Given the description of an element on the screen output the (x, y) to click on. 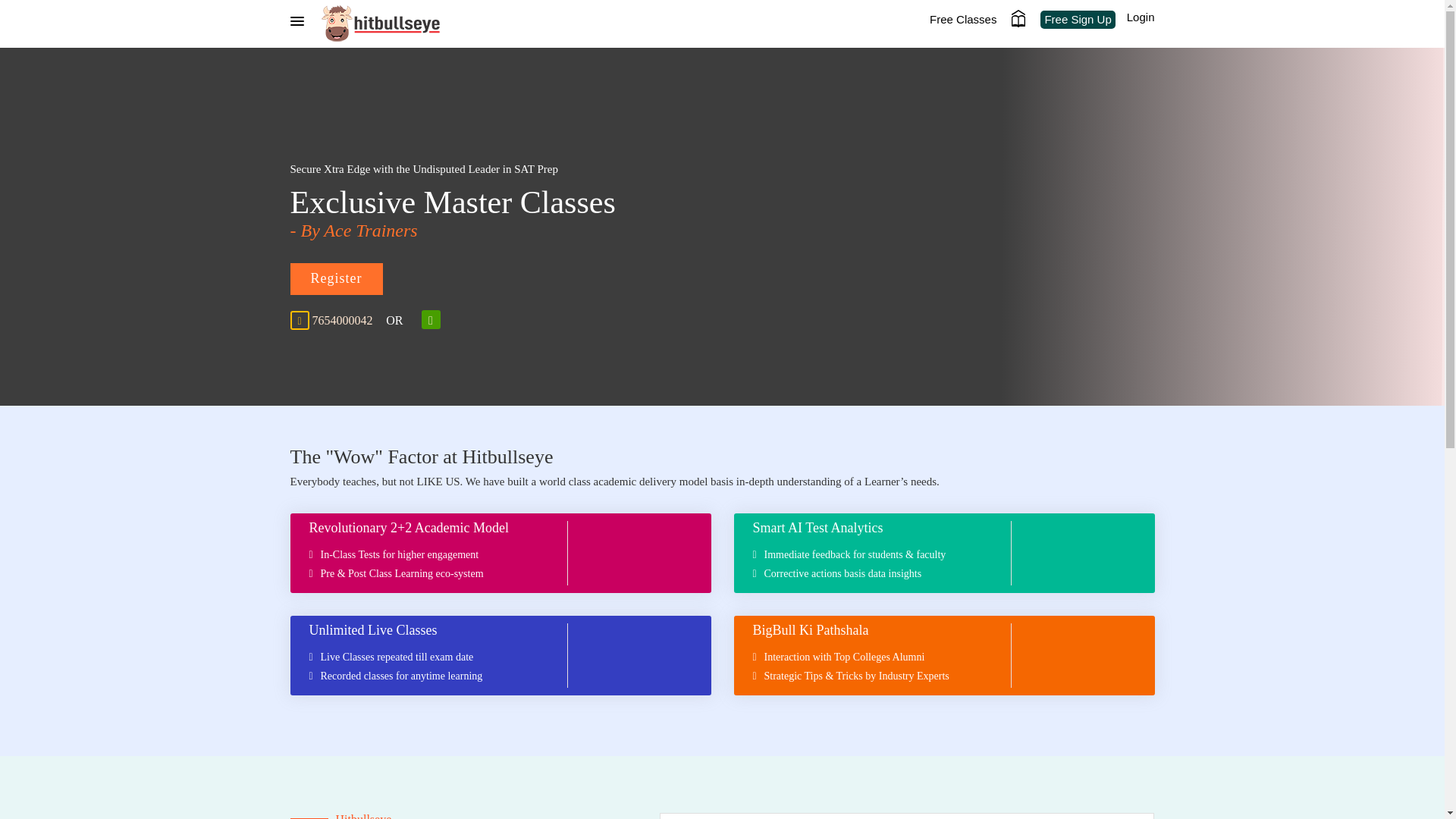
Free Classes (963, 19)
7654000042 (342, 319)
Register (335, 278)
Free Sign Up (1078, 19)
Login (1138, 17)
